Given the description of an element on the screen output the (x, y) to click on. 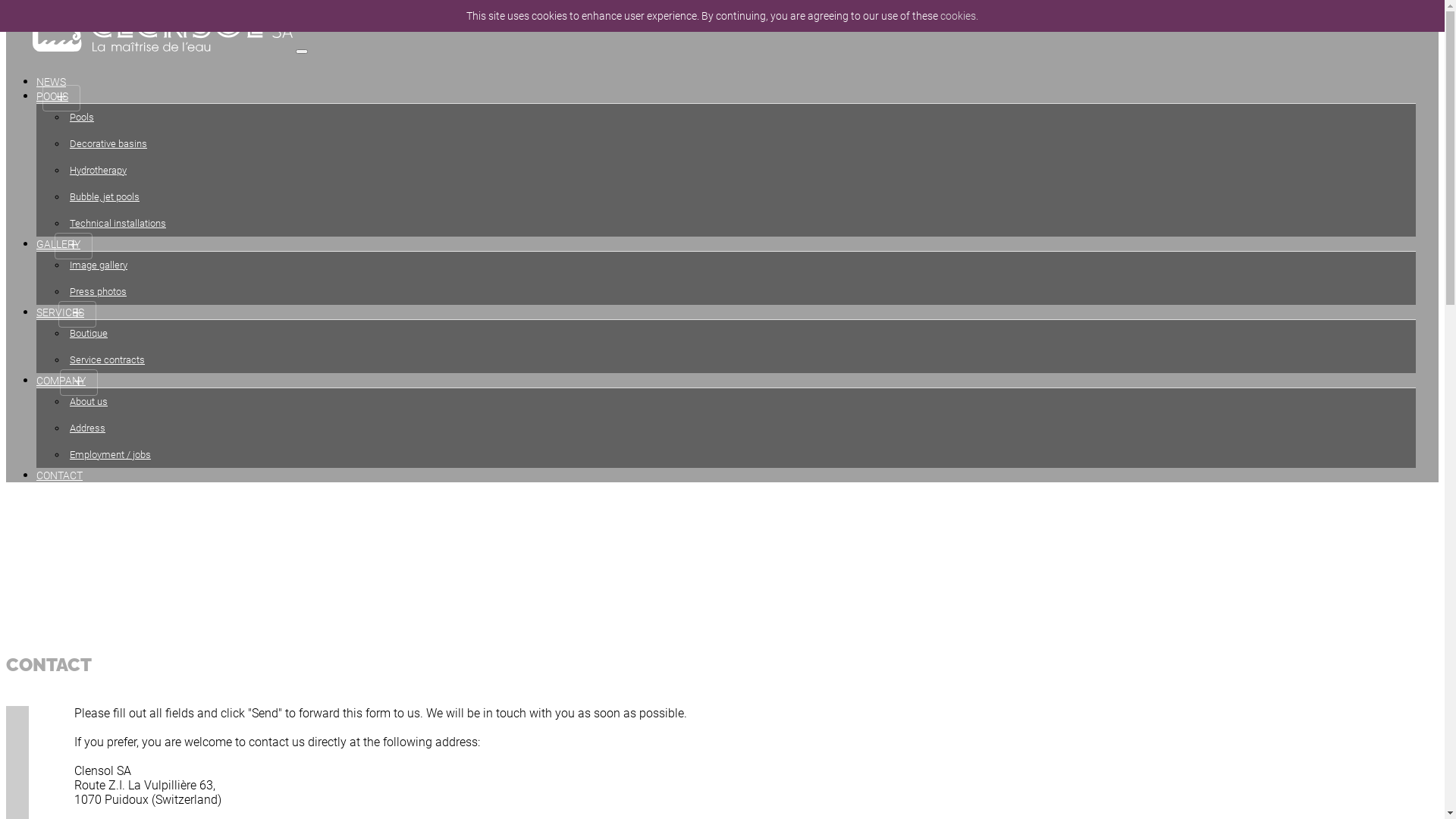
Boutique Element type: text (740, 333)
Employment / jobs Element type: text (740, 454)
About us Element type: text (740, 401)
SERVICES Element type: text (66, 313)
Address Element type: text (740, 427)
FRA Element type: text (9, 7)
Hydrotherapy Element type: text (740, 169)
Bubble, jet pools Element type: text (740, 196)
Pools Element type: text (740, 116)
Press photos Element type: text (740, 291)
ENG Element type: text (29, 7)
Image gallery Element type: text (740, 264)
GALLERY Element type: text (64, 244)
Service contracts Element type: text (740, 359)
Decorative basins Element type: text (740, 143)
NEWS Element type: text (57, 82)
Technical installations Element type: text (740, 223)
COMPANY Element type: text (66, 381)
CONTACT Element type: text (65, 476)
cookies. Element type: text (959, 15)
POOLS Element type: text (58, 96)
